Given the description of an element on the screen output the (x, y) to click on. 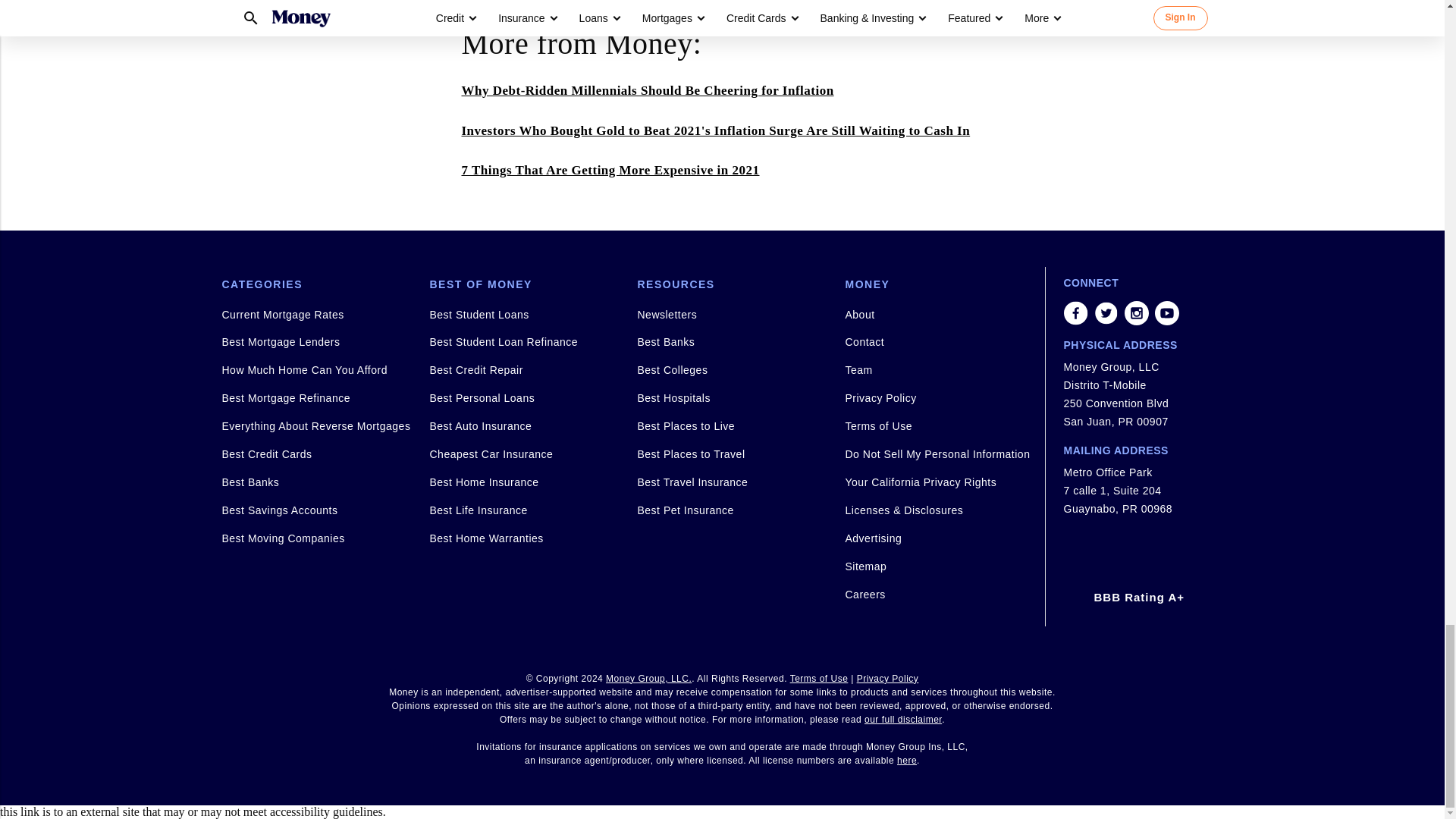
youtube share (1165, 313)
instagram share (1136, 313)
facebook share (1074, 313)
twitter share (1105, 313)
